Given the description of an element on the screen output the (x, y) to click on. 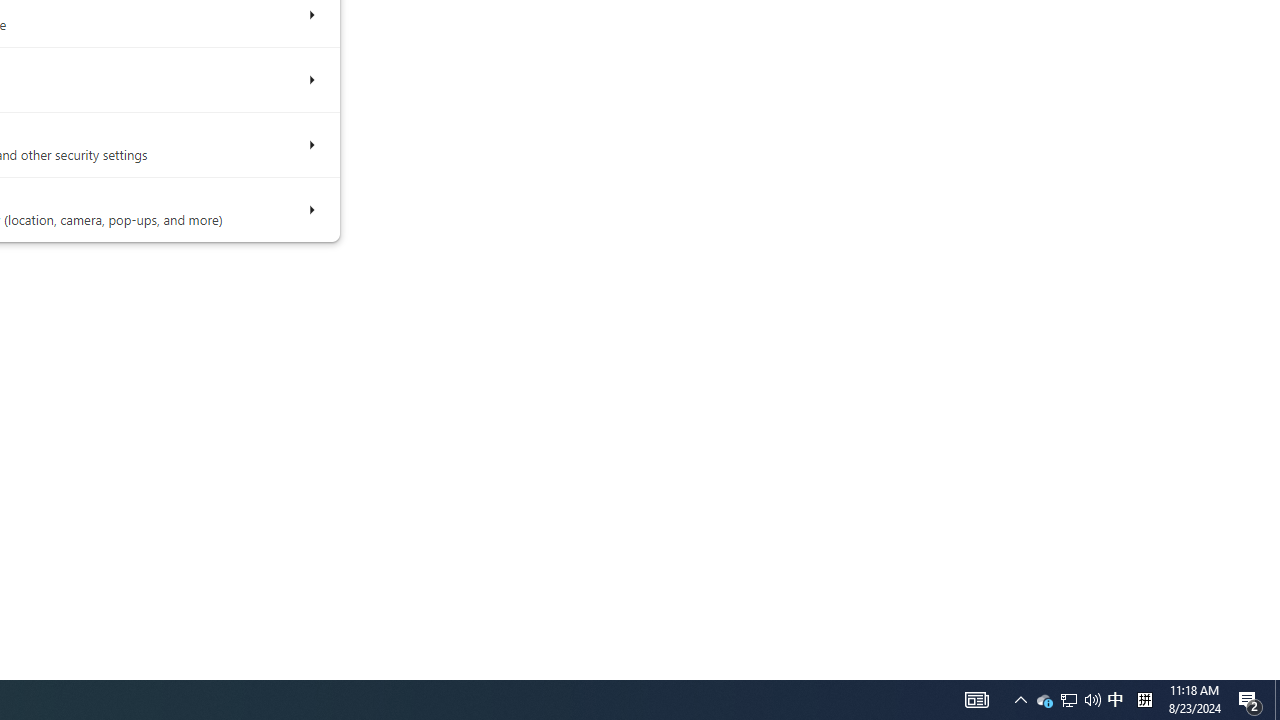
Ad privacy Customize the info used by sites to show you ads (310, 80)
